Given the description of an element on the screen output the (x, y) to click on. 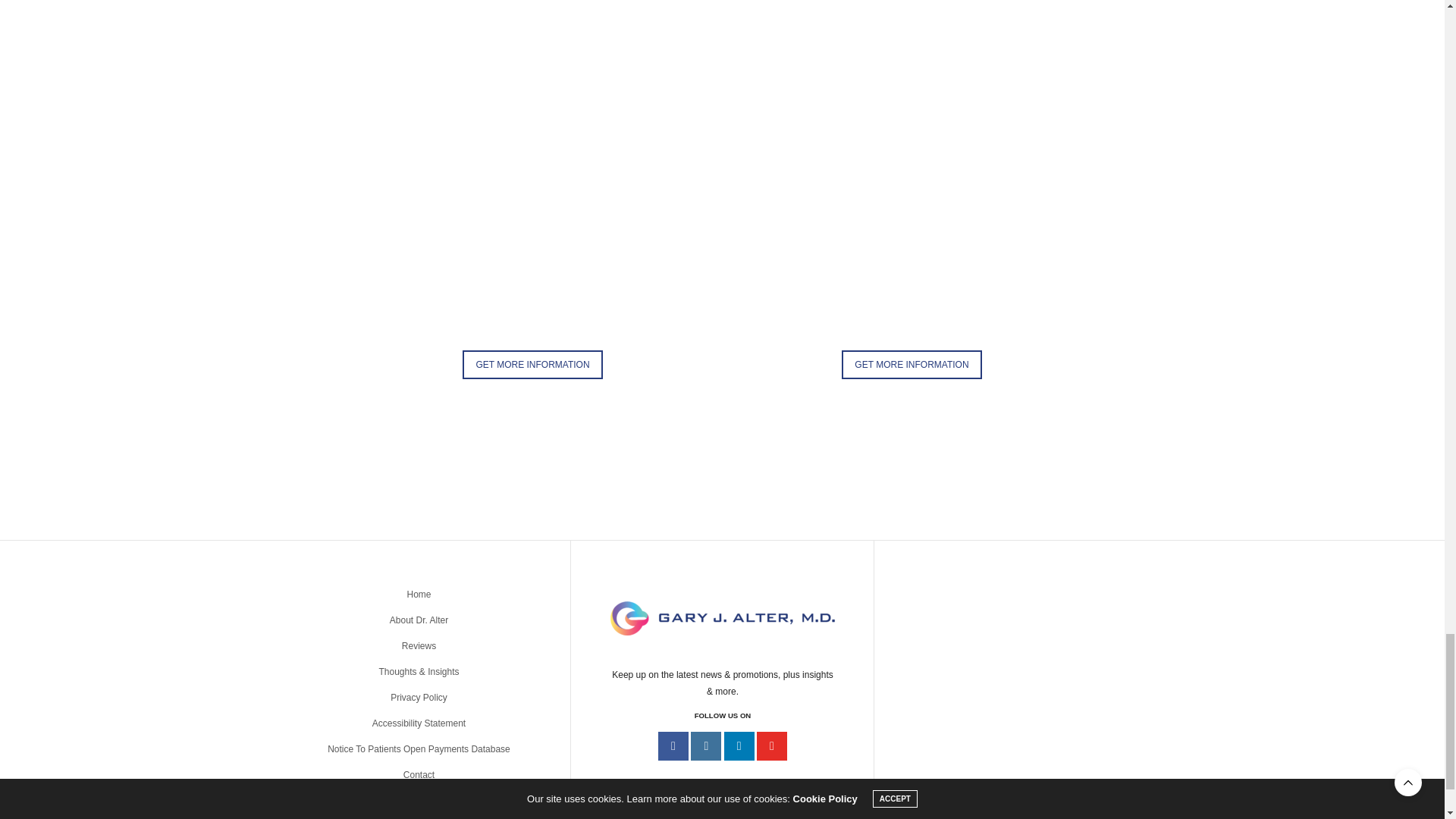
Contact (532, 364)
Find Us on Facebook (673, 746)
Contact (911, 364)
See Us on Instagram (705, 746)
